Given the description of an element on the screen output the (x, y) to click on. 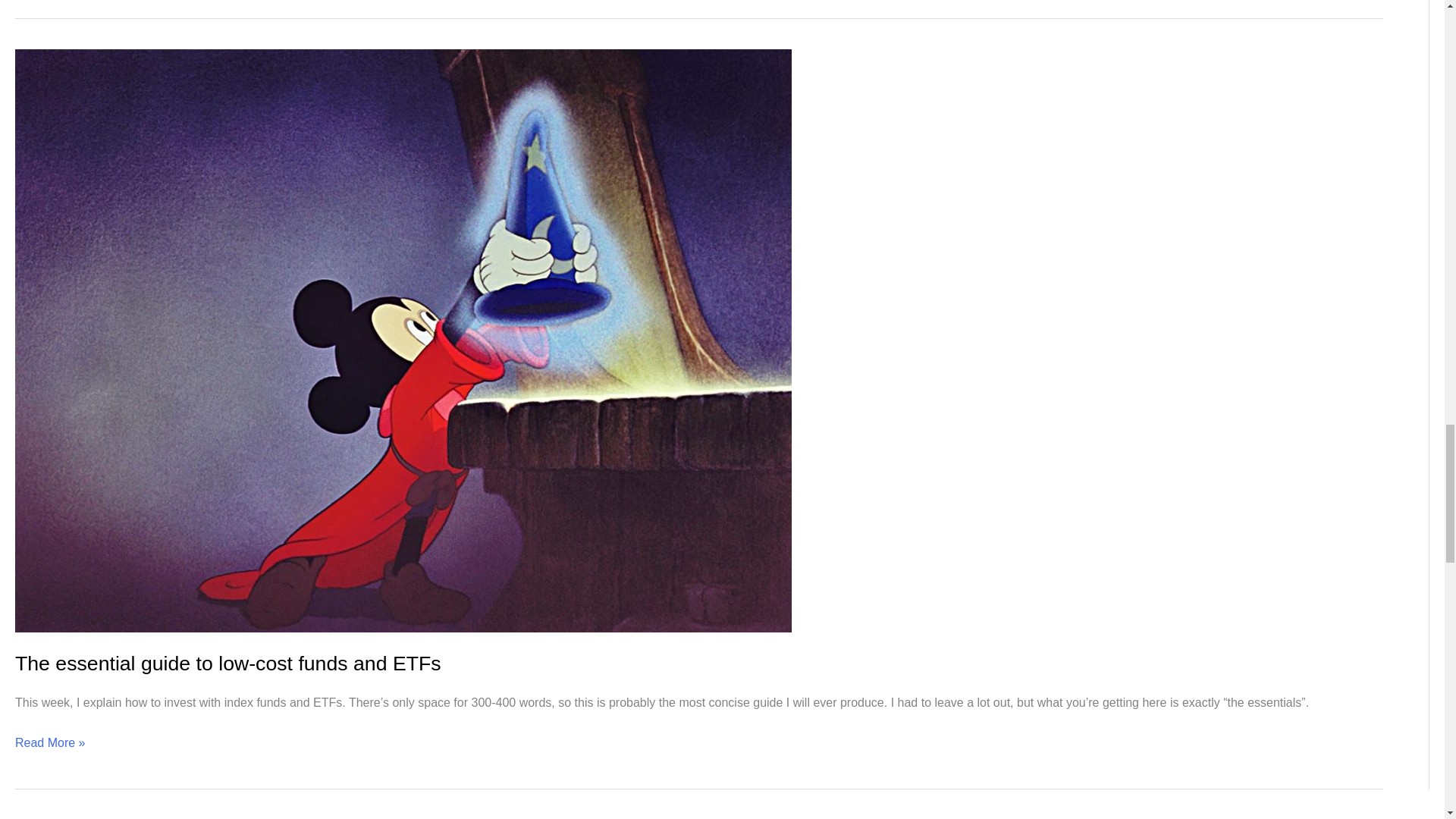
The essential guide to low-cost funds and ETFs (227, 662)
